Given the description of an element on the screen output the (x, y) to click on. 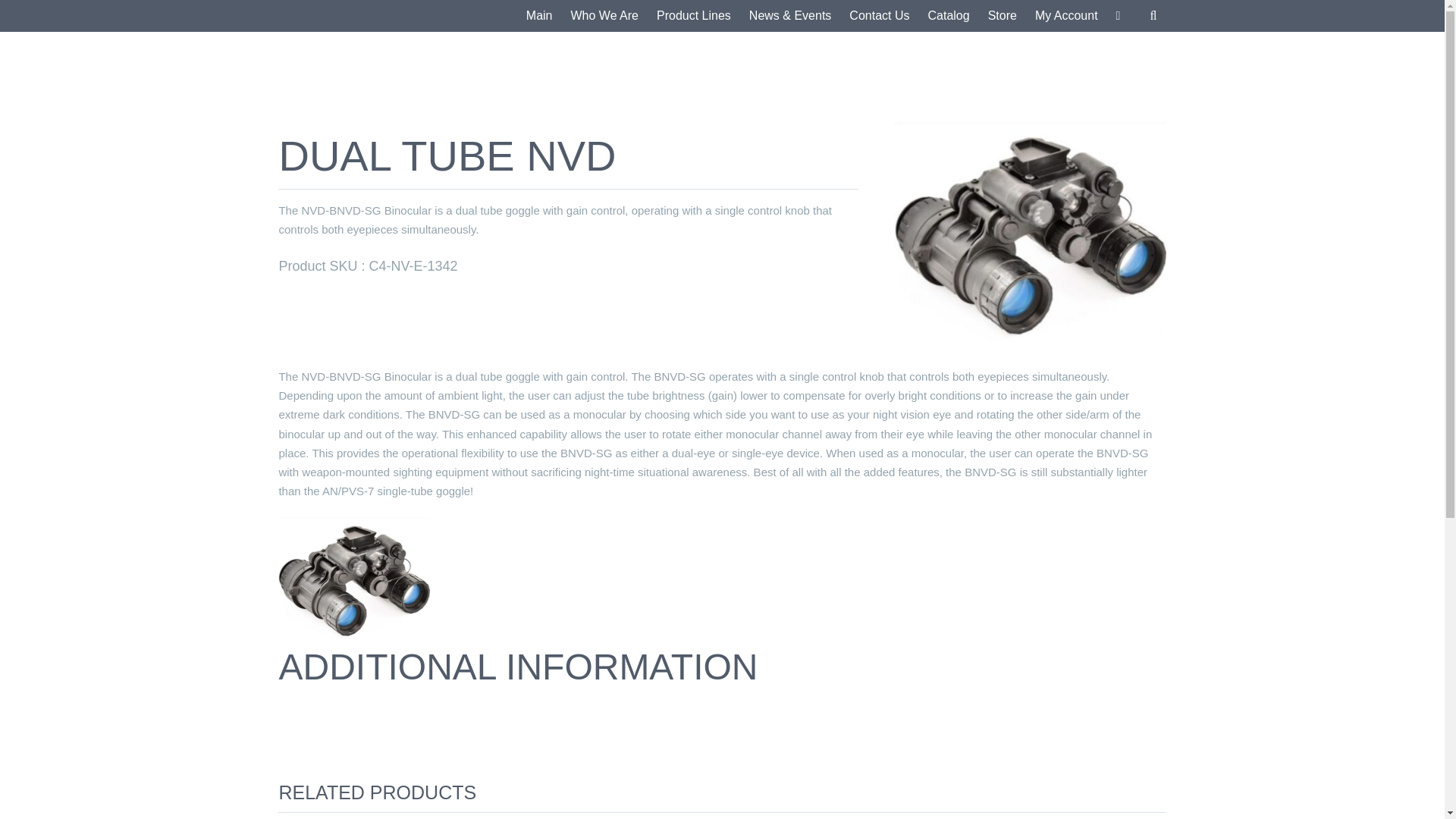
Who We Are (603, 15)
Contact Us (879, 15)
1342 (1029, 230)
1342 (353, 578)
Main (539, 15)
Catalog (948, 15)
Product Lines (693, 15)
Log In (1120, 167)
My Account (1066, 15)
Store (1002, 15)
